Given the description of an element on the screen output the (x, y) to click on. 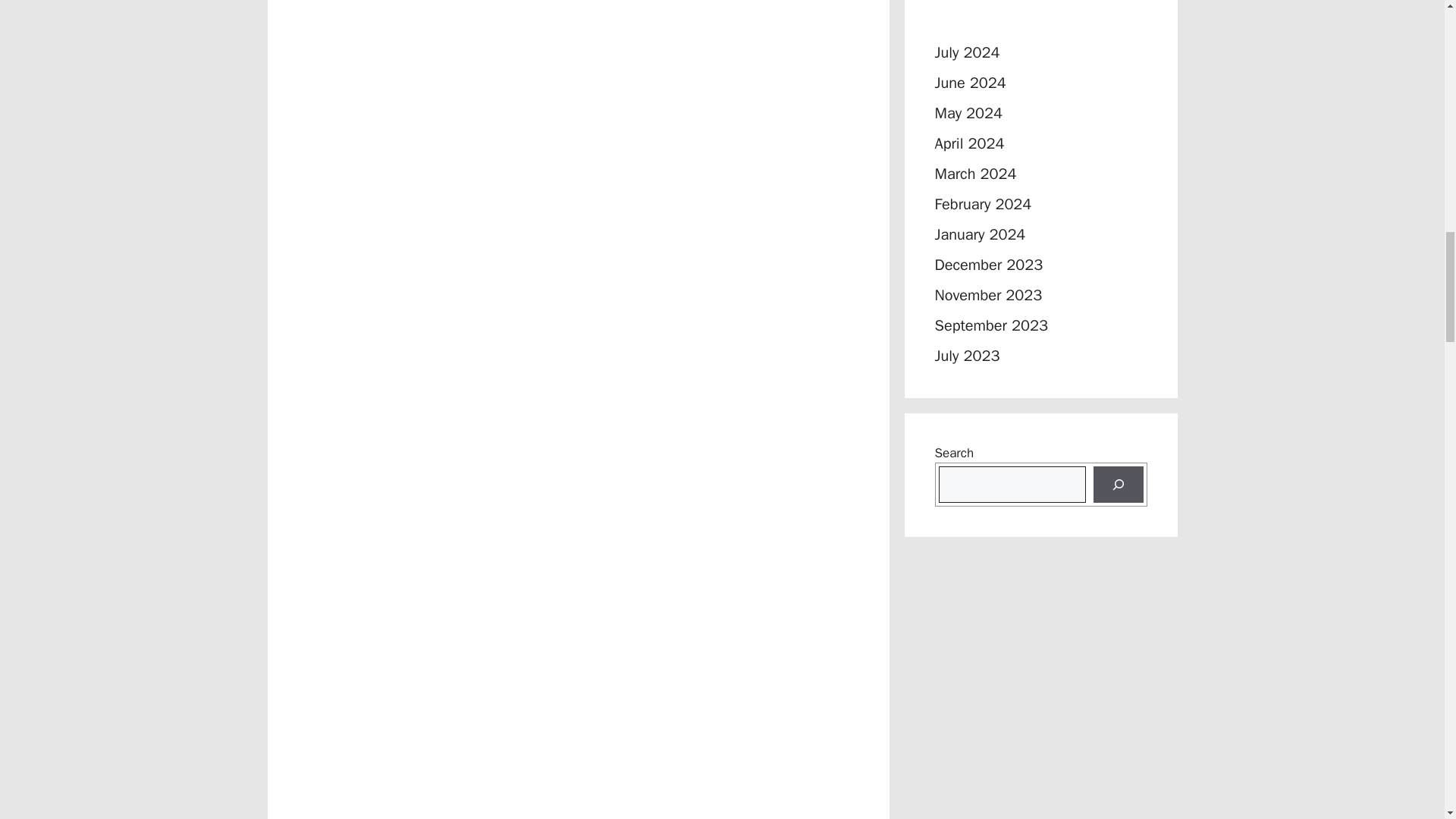
December 2023 (988, 264)
June 2024 (970, 82)
April 2024 (969, 143)
January 2024 (979, 234)
September 2023 (990, 325)
March 2024 (975, 173)
July 2024 (966, 52)
May 2024 (968, 113)
July 2023 (966, 355)
February 2024 (982, 203)
November 2023 (988, 294)
